Given the description of an element on the screen output the (x, y) to click on. 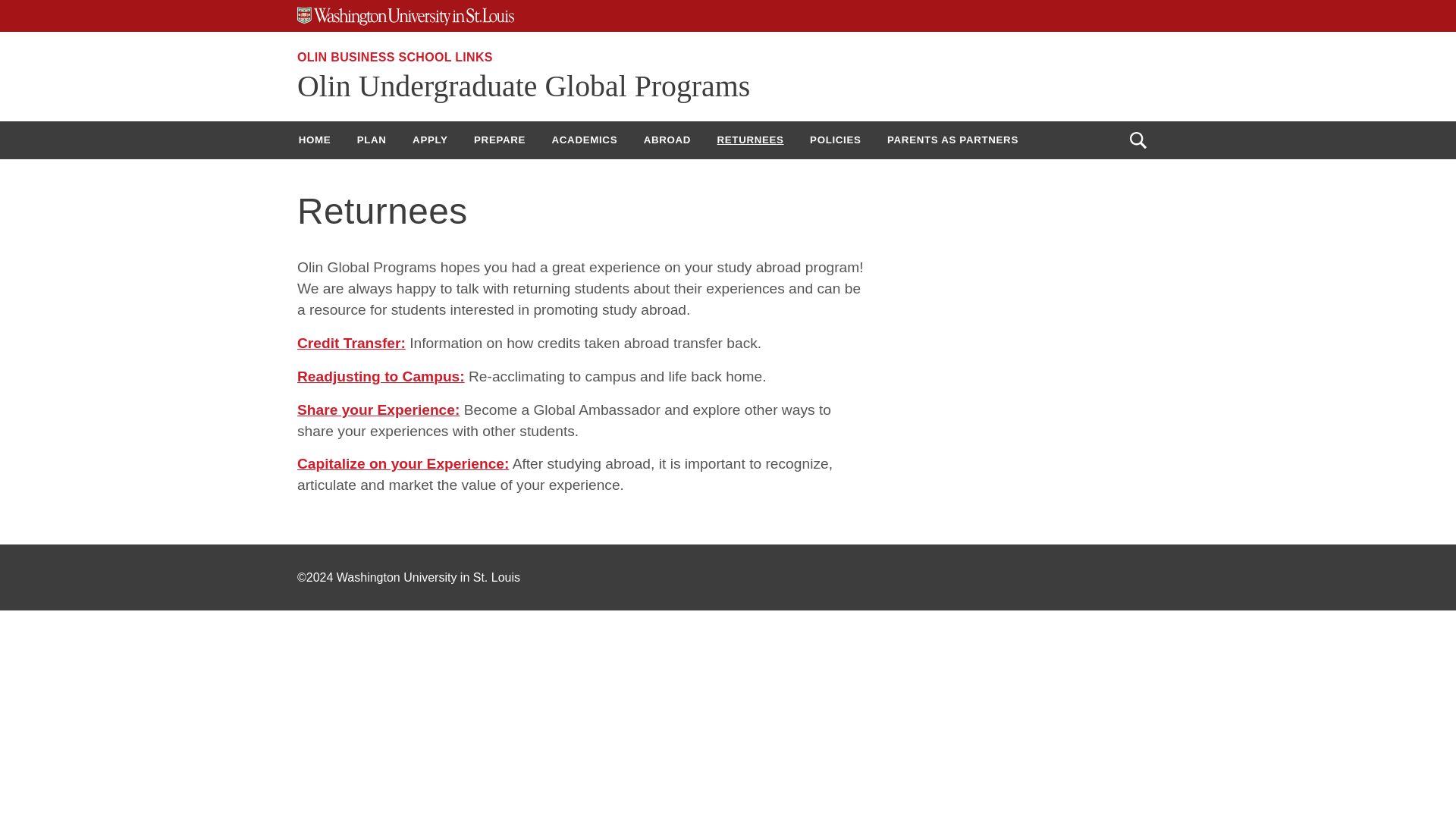
APPLY (430, 139)
PLAN (371, 139)
HOME (314, 139)
ACADEMICS (584, 139)
PREPARE (500, 139)
Olin Undergraduate Global Programs (523, 86)
OLIN BUSINESS SCHOOL LINKS (395, 56)
